Given the description of an element on the screen output the (x, y) to click on. 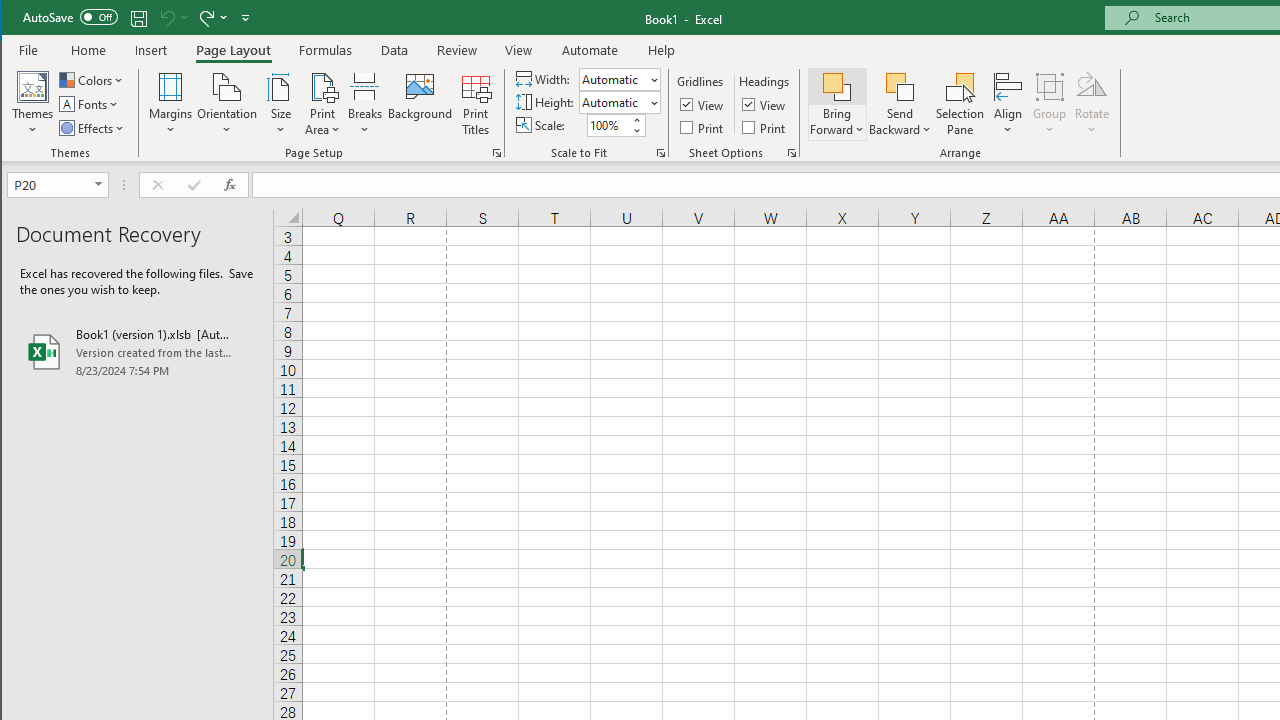
Orientation (226, 104)
Width (612, 79)
Bring Forward (836, 104)
Margins (170, 104)
Breaks (365, 104)
Less (636, 130)
Height (619, 101)
Rotate (1092, 104)
Bring Forward (836, 86)
